Given the description of an element on the screen output the (x, y) to click on. 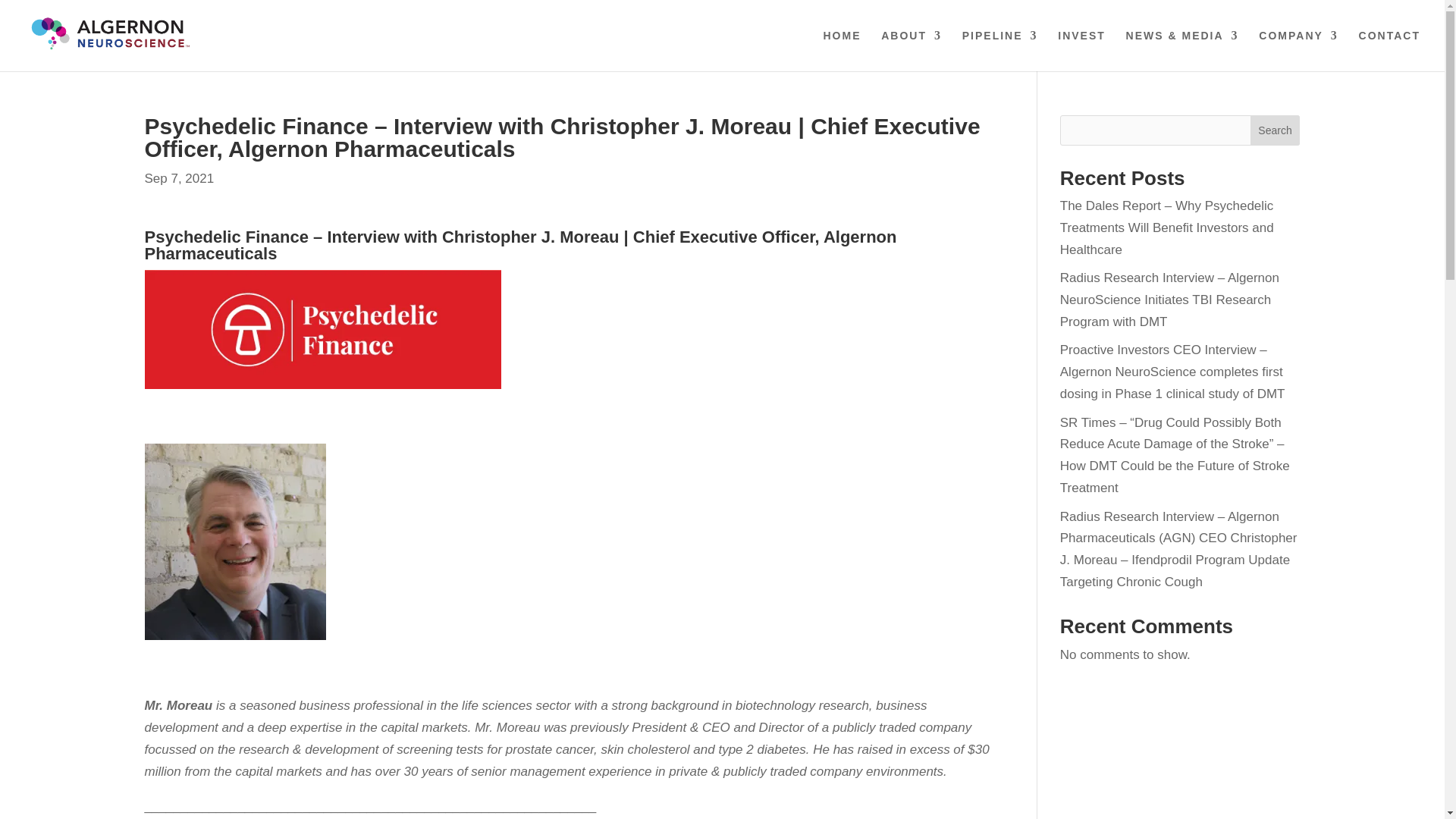
INVEST (1081, 50)
COMPANY (1298, 50)
ABOUT (911, 50)
CONTACT (1389, 50)
HOME (842, 50)
PIPELINE (1000, 50)
